Given the description of an element on the screen output the (x, y) to click on. 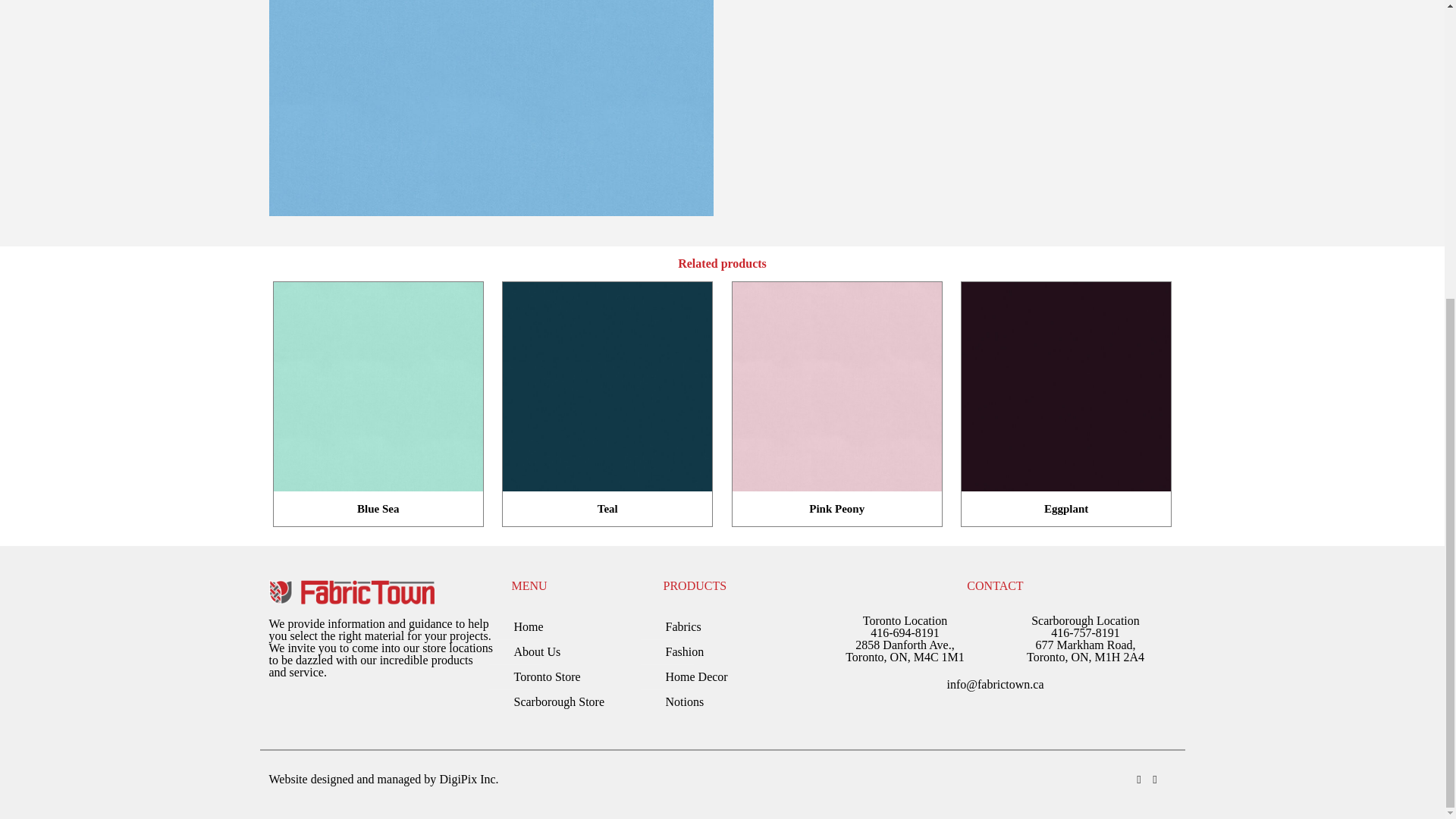
Instagram (1138, 779)
Facebook (1155, 779)
DigiPix Inc. (468, 779)
RDPL0654 (490, 108)
Fabric Town Email (994, 684)
